Given the description of an element on the screen output the (x, y) to click on. 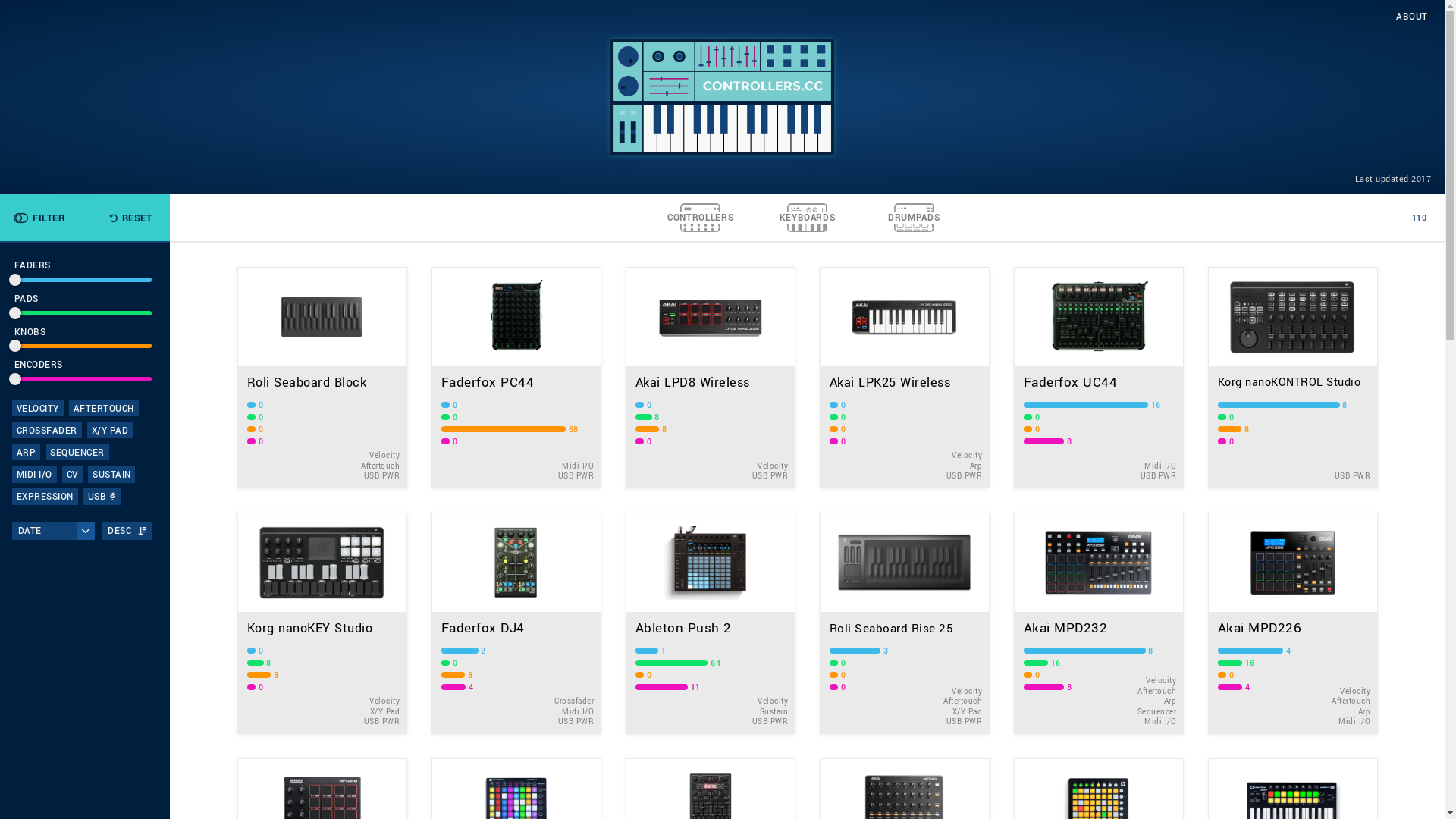
EXPRESSION Element type: text (45, 496)
Ableton Push 2
1
64
0
11
Velocity
Sustain
USB PWR Element type: text (709, 623)
AFTERTOUCH Element type: text (103, 408)
CONTROLLERS Element type: text (699, 217)
Korg nanoKEY Studio
0
8
8
0
Velocity
X/Y Pad
USB PWR Element type: text (321, 623)
SEQUENCER Element type: text (77, 452)
KEYBOARDS Element type: text (806, 217)
Roli Seaboard Block
0
0
0
0
Velocity
Aftertouch
USB PWR Element type: text (321, 377)
DRUMPADS Element type: text (913, 217)
RESET Element type: text (129, 217)
USB Element type: text (102, 496)
ARP Element type: text (26, 452)
Faderfox PC44
0
0
68
0
Midi I/O
USB PWR Element type: text (515, 377)
Korg nanoKONTROL Studio
8
0
8
0
USB PWR Element type: text (1292, 377)
VELOCITY Element type: text (37, 408)
SUSTAIN Element type: text (110, 474)
Faderfox DJ4
2
0
8
4
Crossfader
Midi I/O
USB PWR Element type: text (515, 623)
X/Y PAD Element type: text (109, 430)
Descending Element type: hover (142, 530)
Akai MPD226
4
16
0
4
Velocity
Aftertouch
Arp
Midi I/O Element type: text (1292, 623)
ABOUT Element type: text (1411, 17)
DESC Element type: text (126, 530)
CV Element type: text (72, 474)
Faderfox UC44
16
0
0
8
Midi I/O
USB PWR Element type: text (1098, 377)
CROSSFADER Element type: text (46, 430)
Akai LPK25 Wireless
0
0
0
0
Velocity
Arp
USB PWR Element type: text (903, 377)
Akai LPD8 Wireless
0
8
8
0
Velocity
USB PWR Element type: text (709, 377)
FILTER Element type: text (38, 217)
MIDI I/O Element type: text (34, 474)
